Given the description of an element on the screen output the (x, y) to click on. 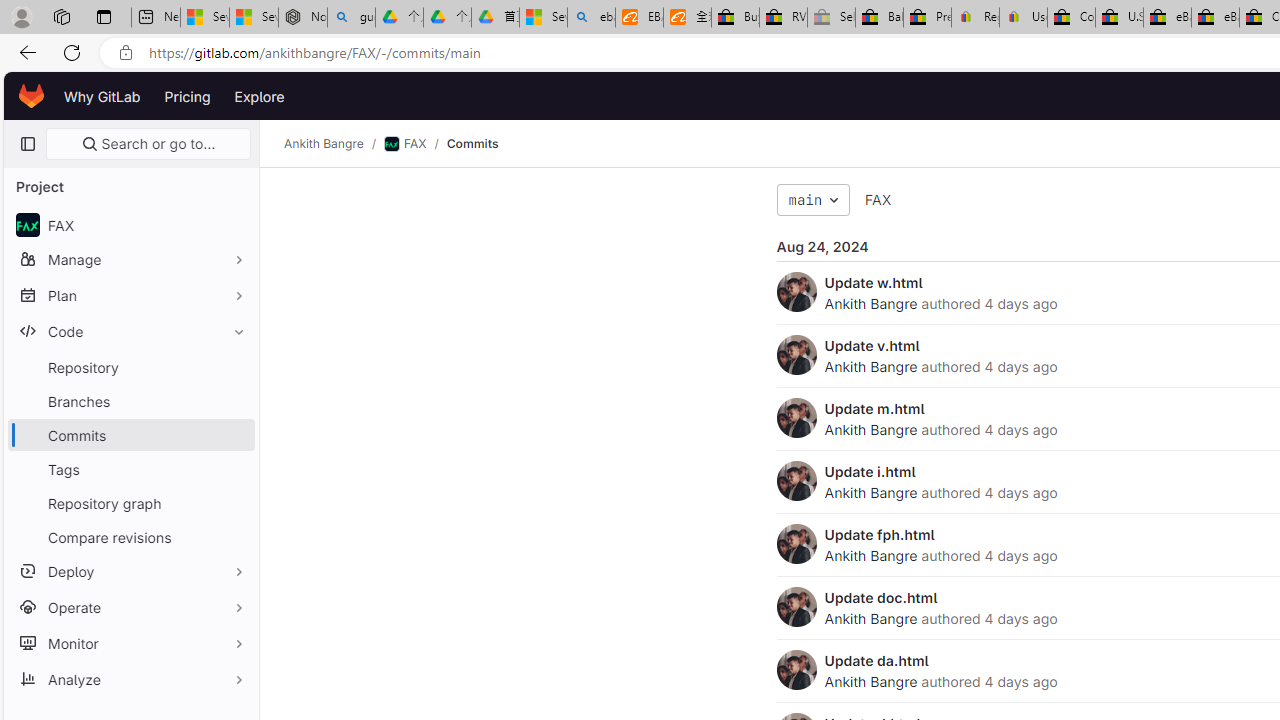
Consumer Health Data Privacy Policy - eBay Inc. (1071, 17)
Ankith Bangre's avatar (795, 669)
Tags (130, 468)
Tags (130, 468)
Branches (130, 400)
Ankith Bangre (870, 681)
Compare revisions (130, 536)
FAX/ (414, 143)
Deploy (130, 570)
Plan (130, 295)
Monitor (130, 642)
